Given the description of an element on the screen output the (x, y) to click on. 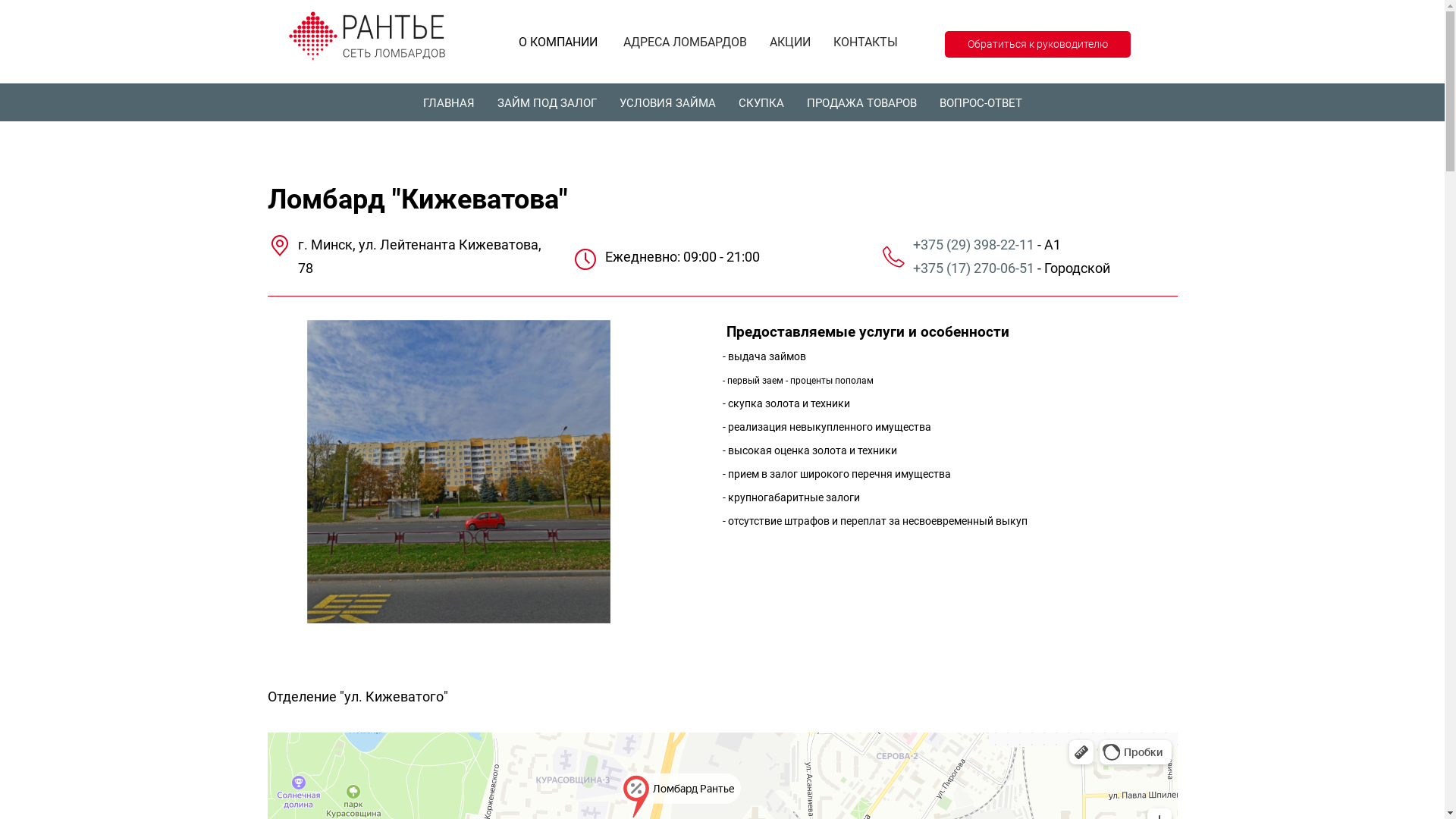
+375 (17) 270-06-51 Element type: text (973, 268)
+375 (29) 398-22-11 Element type: text (973, 244)
